Given the description of an element on the screen output the (x, y) to click on. 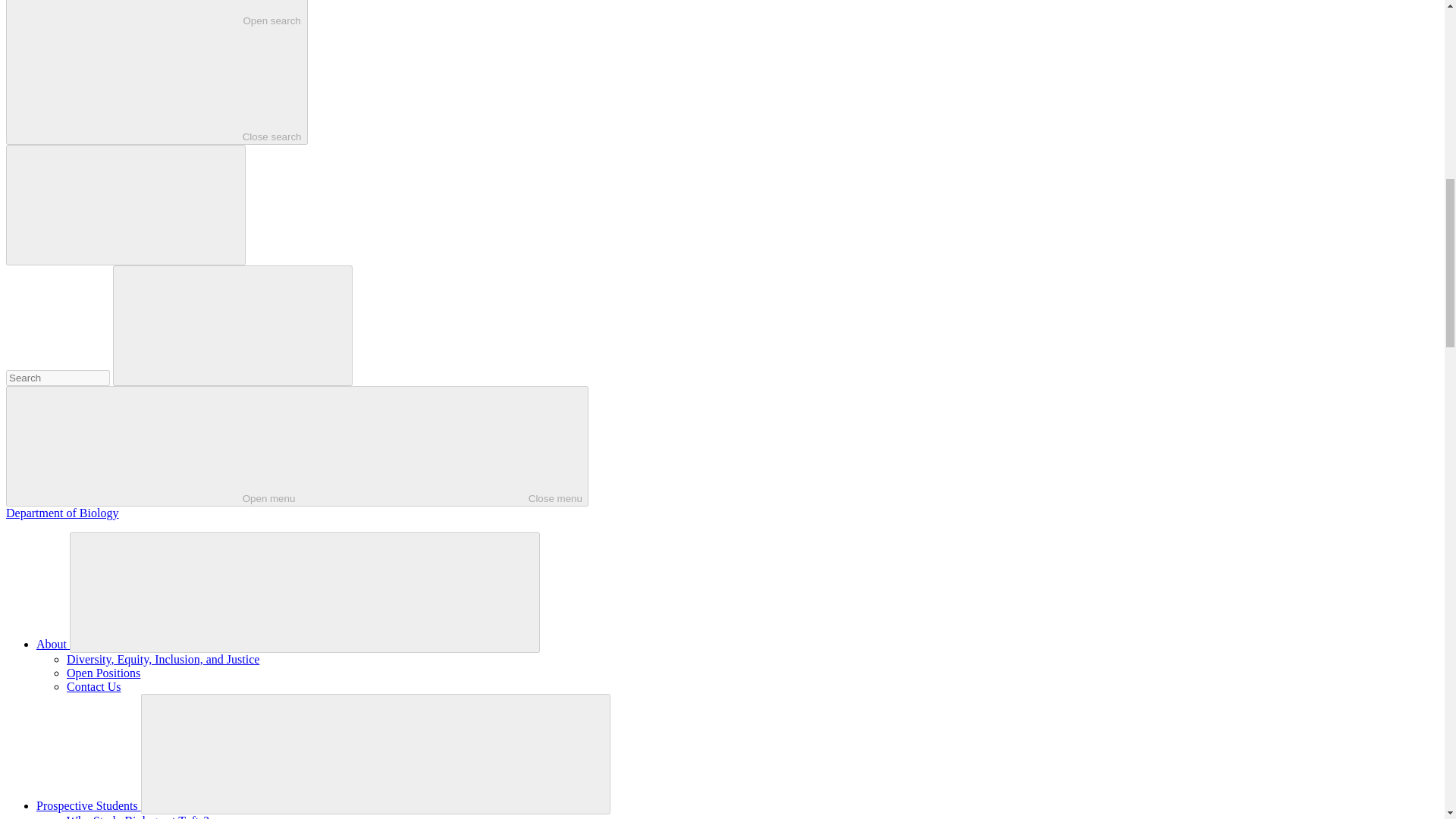
Diversity, Equity, Inclusion, and Justice (162, 658)
Prospective Students (88, 805)
Open Positions (156, 72)
About (102, 672)
Contact Us (52, 644)
Open menu Close menu (93, 686)
Department of Biology (296, 445)
Why Study Biology at Tufts? (61, 512)
Search (137, 816)
